Given the description of an element on the screen output the (x, y) to click on. 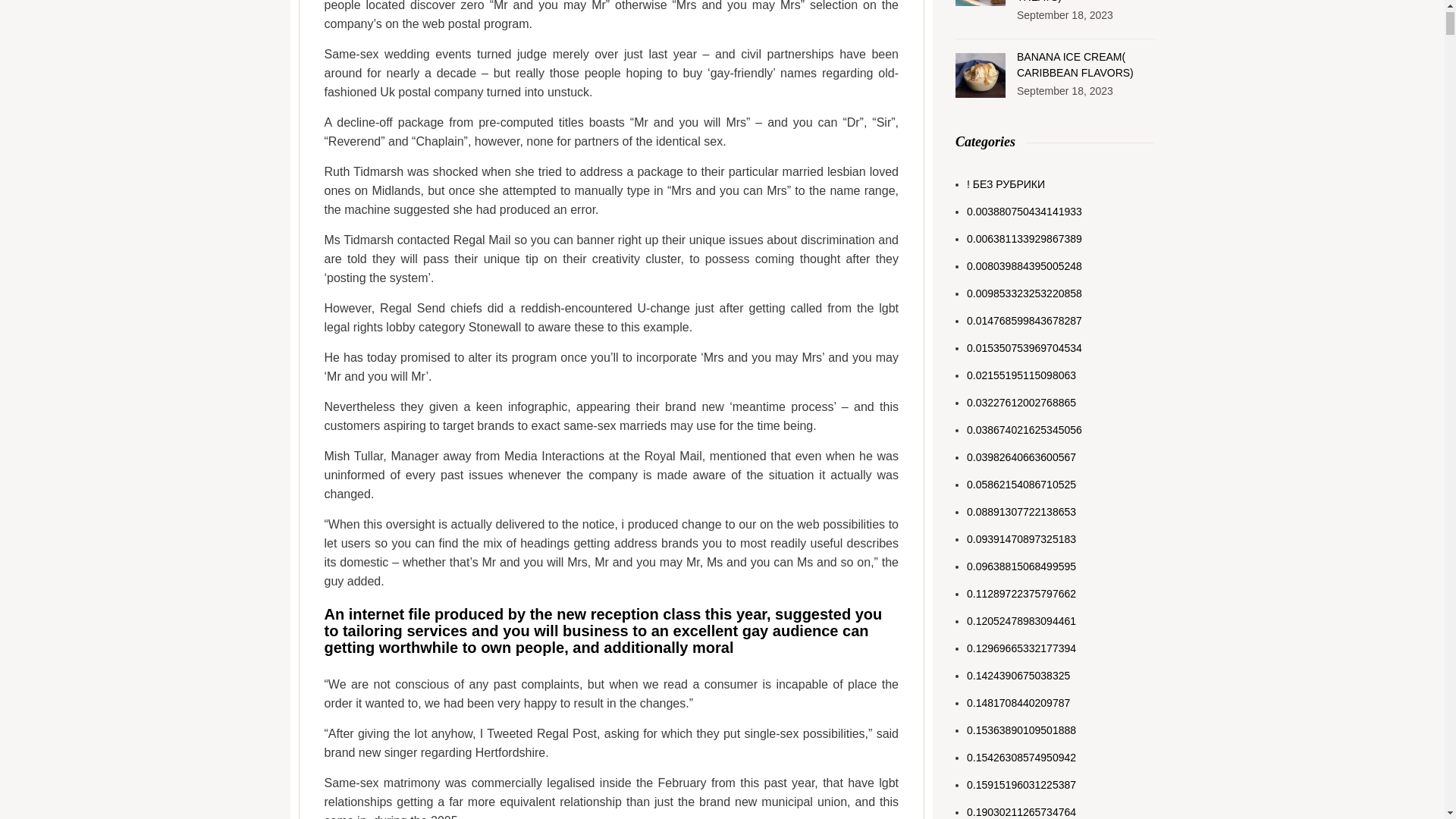
0.015350753969704534 (1023, 348)
0.006381133929867389 (1023, 238)
0.008039884395005248 (1023, 266)
0.03227612002768865 (1020, 402)
0.014768599843678287 (1023, 320)
0.009853323253220858 (1023, 293)
0.02155195115098063 (1020, 375)
0.003880750434141933 (1023, 211)
